Given the description of an element on the screen output the (x, y) to click on. 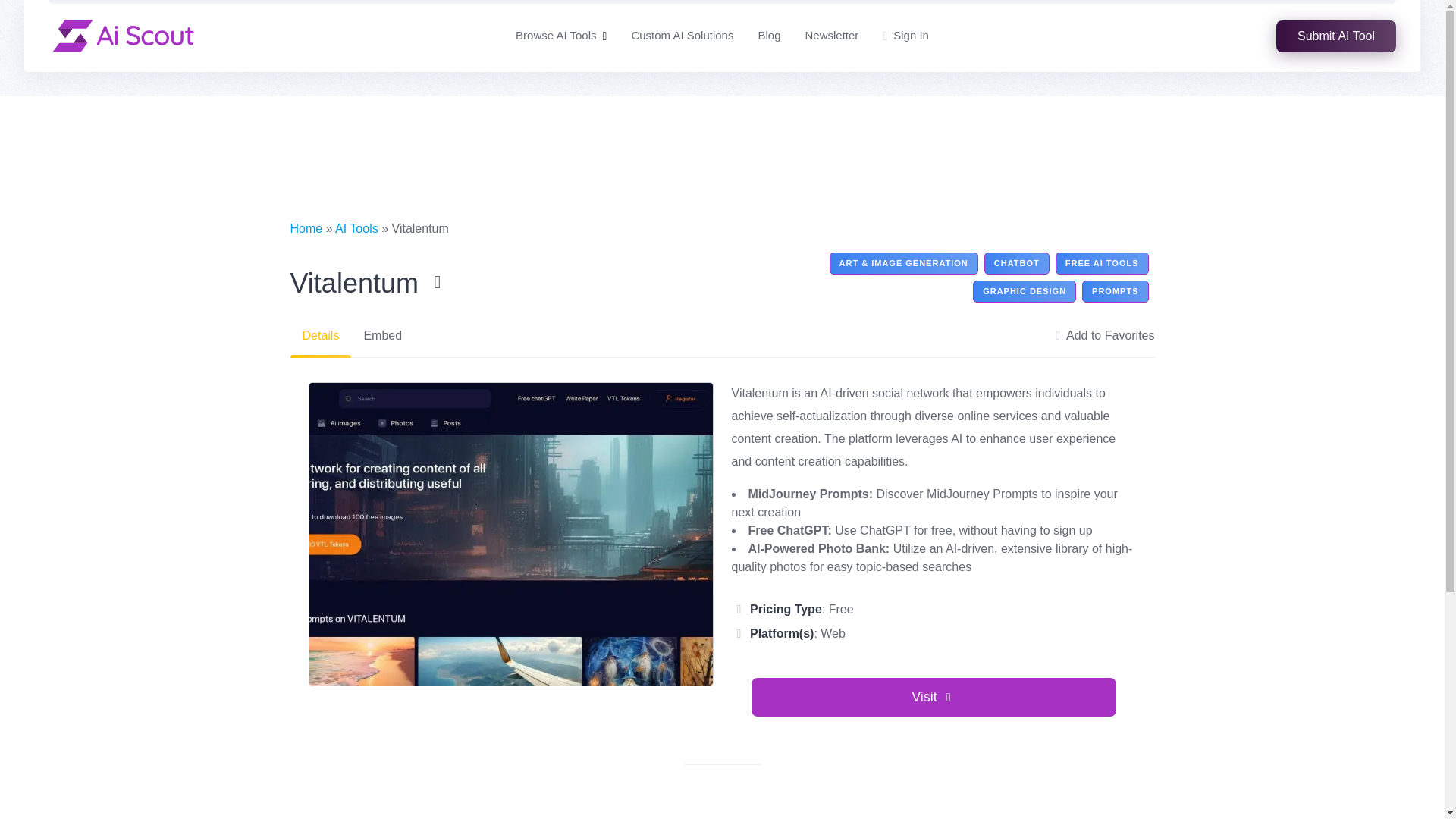
Submit AI Tool (1336, 35)
PROMPTS (1114, 291)
Details (320, 335)
Newsletter (832, 36)
Custom AI Solutions (681, 36)
Blog (768, 36)
Embed (381, 335)
CHATBOT (1016, 263)
GRAPHIC DESIGN (1023, 291)
Vitalentum (368, 283)
Browse AI Tools (555, 36)
Home (305, 228)
AI Tools (356, 228)
Add to Favorites (1104, 335)
Visit (933, 697)
